Given the description of an element on the screen output the (x, y) to click on. 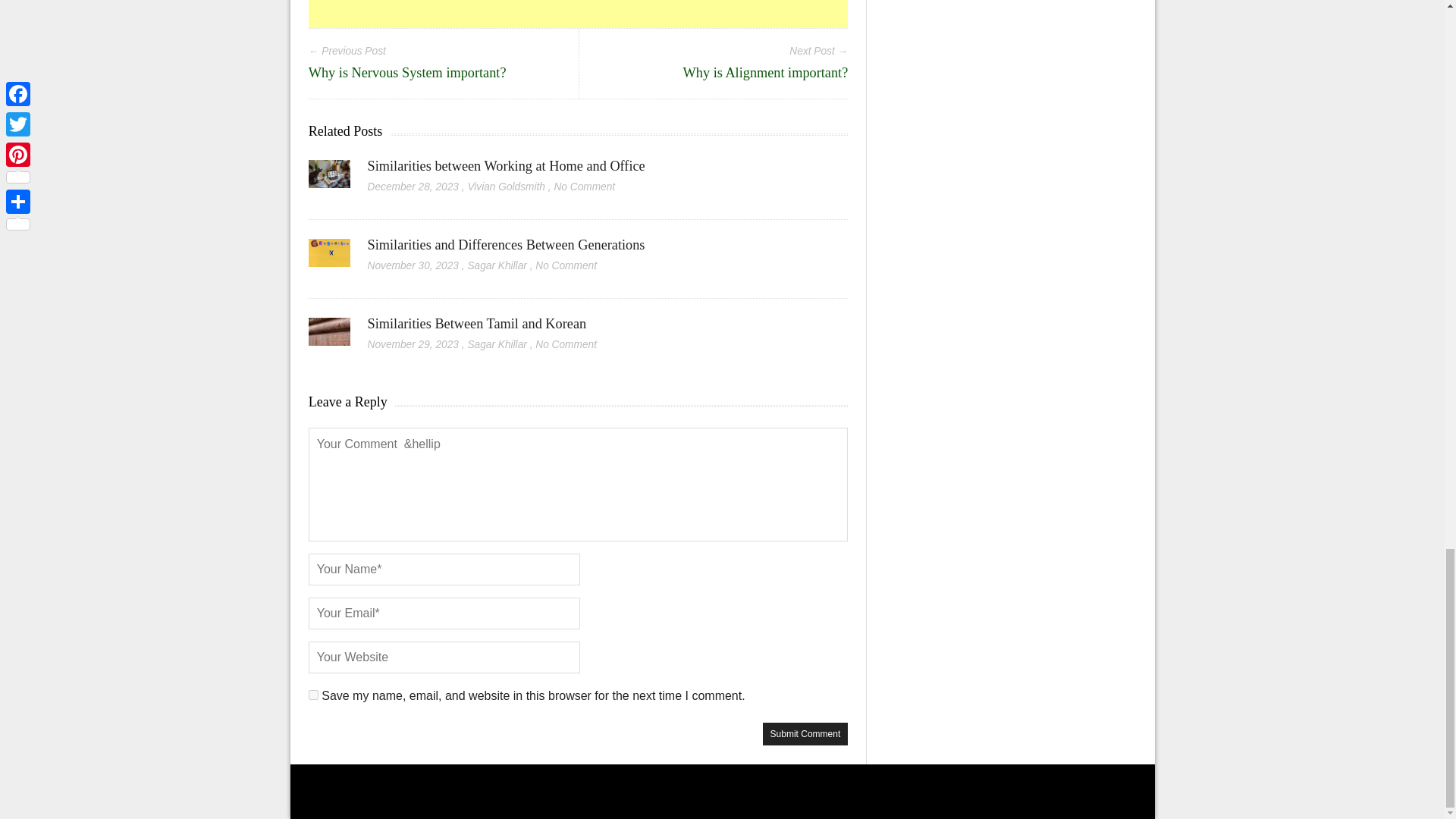
No Comment (583, 186)
Submit Comment (805, 733)
Sagar Khillar (496, 265)
Posts by Sagar Khillar (496, 265)
Similarities between Working at Home and Office (506, 165)
Similarities Between Tamil and Korean (329, 336)
Advertisement (578, 13)
Similarities between Working at Home and Office (329, 179)
No Comment (565, 265)
Similarities and Differences Between Generations (329, 258)
yes (313, 695)
Vivian Goldsmith (505, 186)
Similarities and Differences Between Generations (506, 244)
Similarities between Working at Home and Office (506, 165)
Similarities and Differences Between Generations (506, 244)
